Given the description of an element on the screen output the (x, y) to click on. 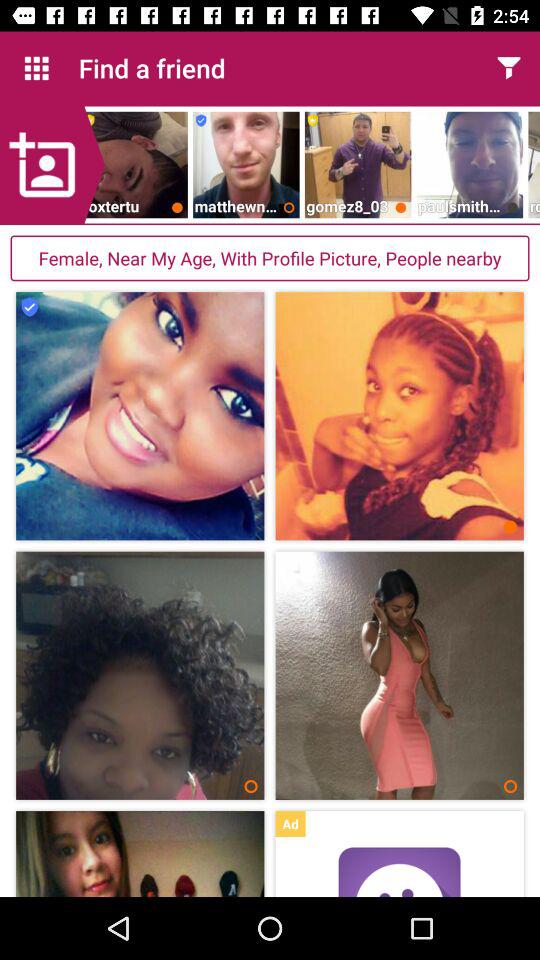
share profile (508, 67)
